Given the description of an element on the screen output the (x, y) to click on. 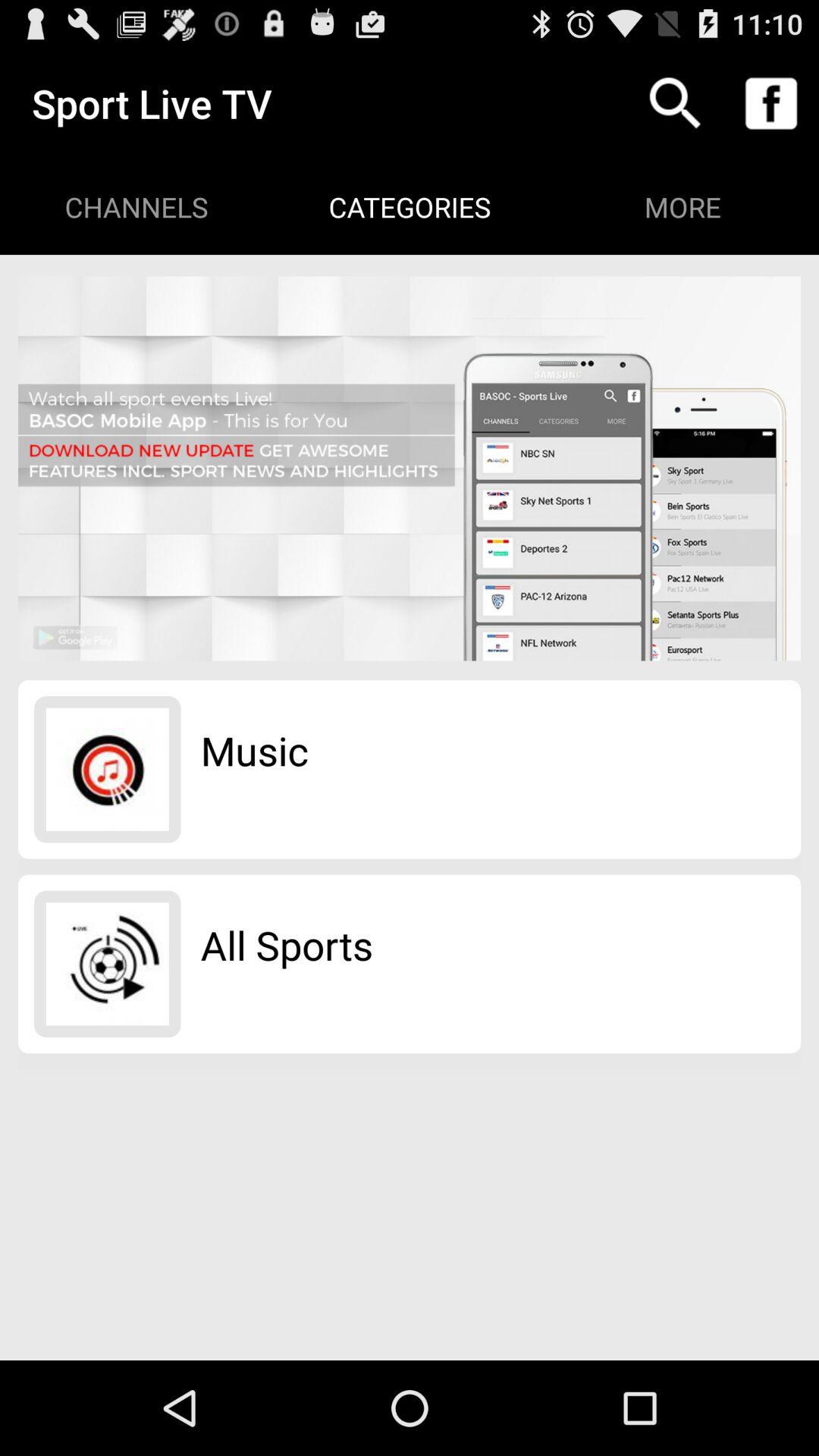
turn on the icon above the more item (771, 103)
